Given the description of an element on the screen output the (x, y) to click on. 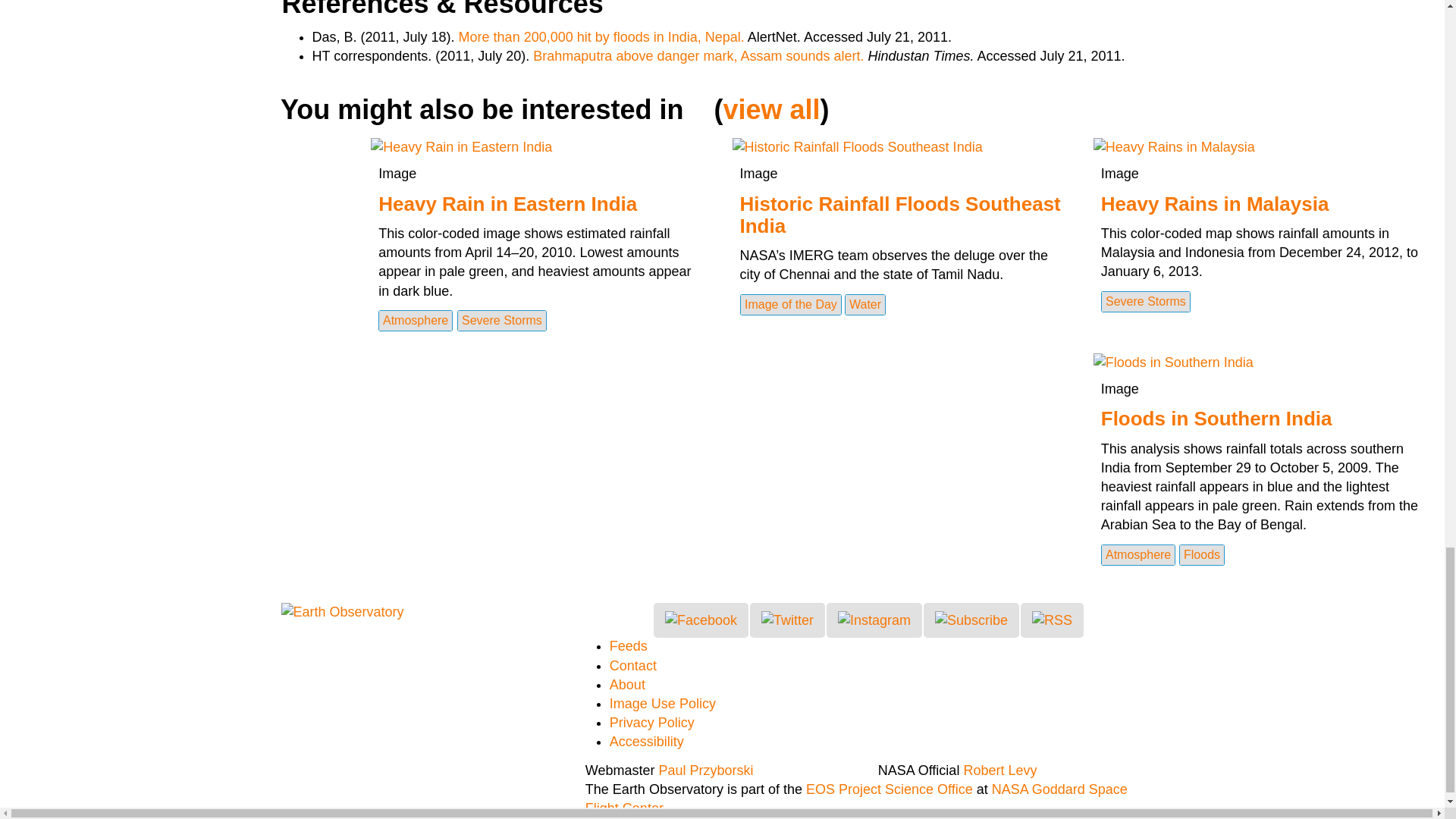
Subscribe (971, 620)
RSS (1051, 620)
Twitter (787, 620)
Earth Observatory (342, 611)
Instagram (874, 620)
Facebook (700, 620)
